Given the description of an element on the screen output the (x, y) to click on. 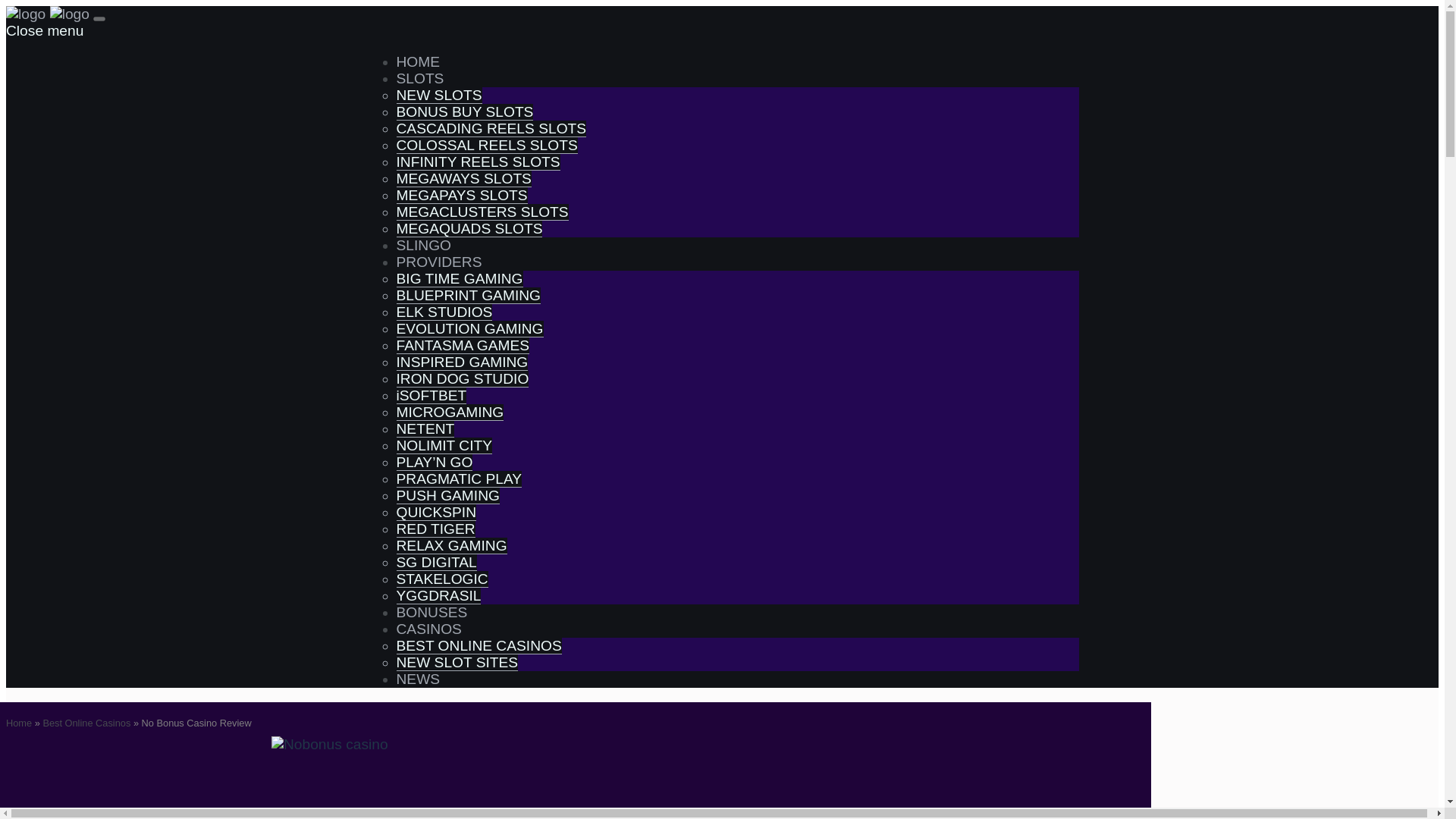
BIG TIME GAMING (459, 279)
PRAGMATIC PLAY (458, 478)
BONUS BUY SLOTS (464, 112)
HOME (417, 61)
ELK STUDIOS (444, 312)
FANTASMA GAMES (462, 345)
IRON DOG STUDIO (462, 379)
NEW SLOTS (438, 95)
STAKELOGIC (441, 579)
RED TIGER (435, 528)
